Given the description of an element on the screen output the (x, y) to click on. 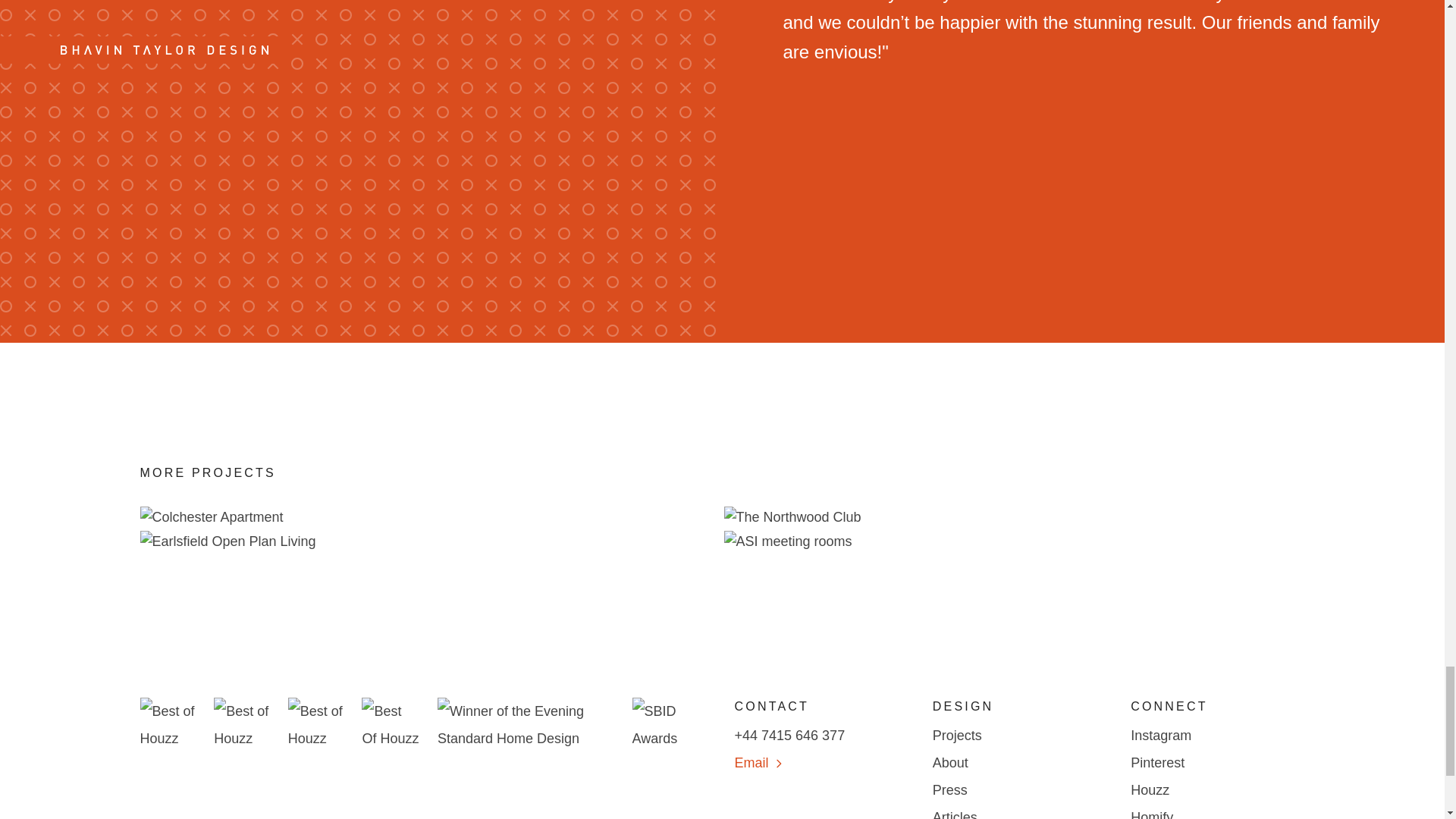
Pinterest (1217, 762)
About (1019, 762)
Articles (1019, 811)
Instagram (1217, 735)
Homify (1217, 811)
Press (1019, 789)
Projects (1019, 735)
Houzz (1217, 789)
Email (820, 762)
